Given the description of an element on the screen output the (x, y) to click on. 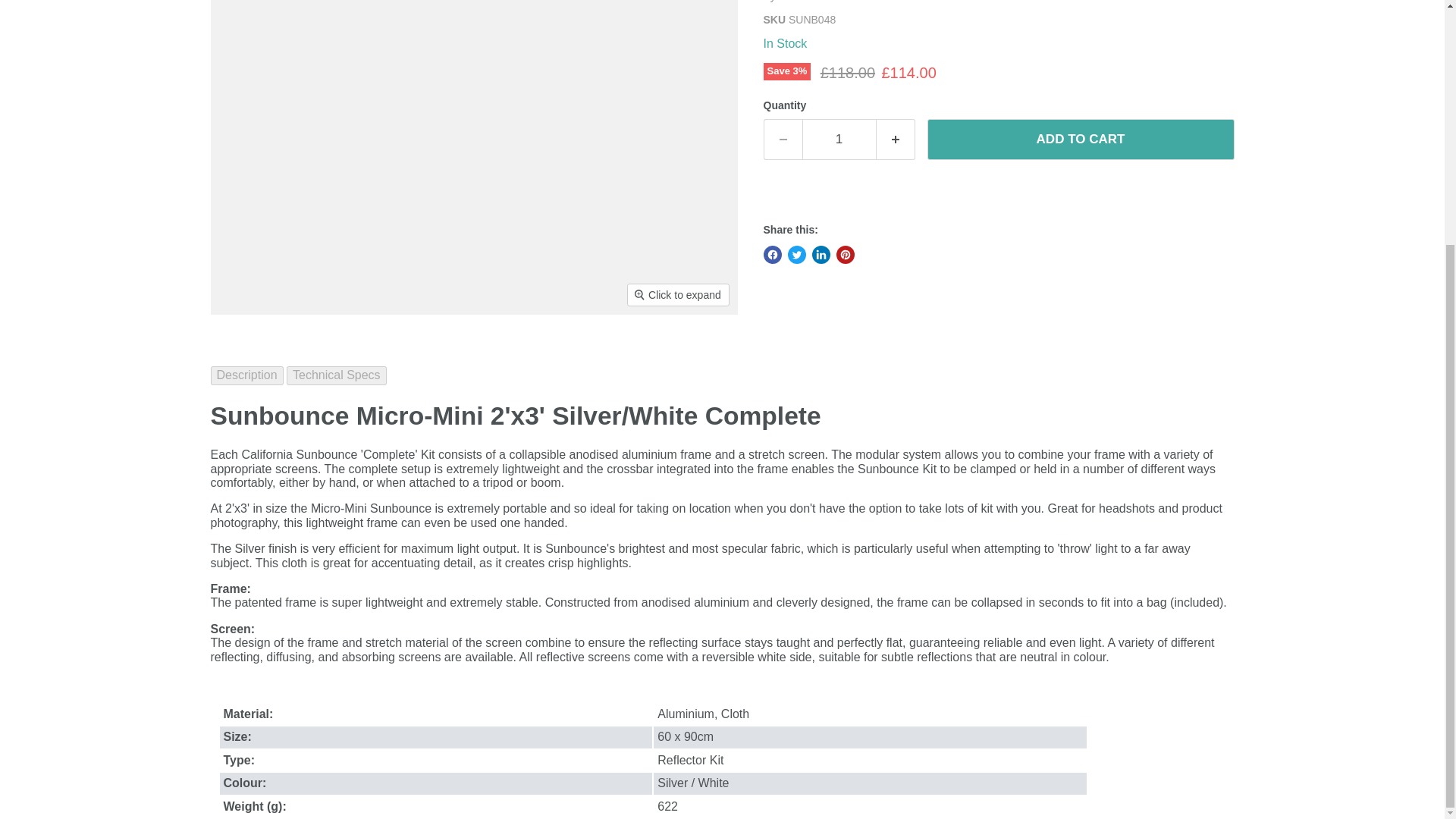
1 (839, 138)
Sunbounce (809, 1)
